Given the description of an element on the screen output the (x, y) to click on. 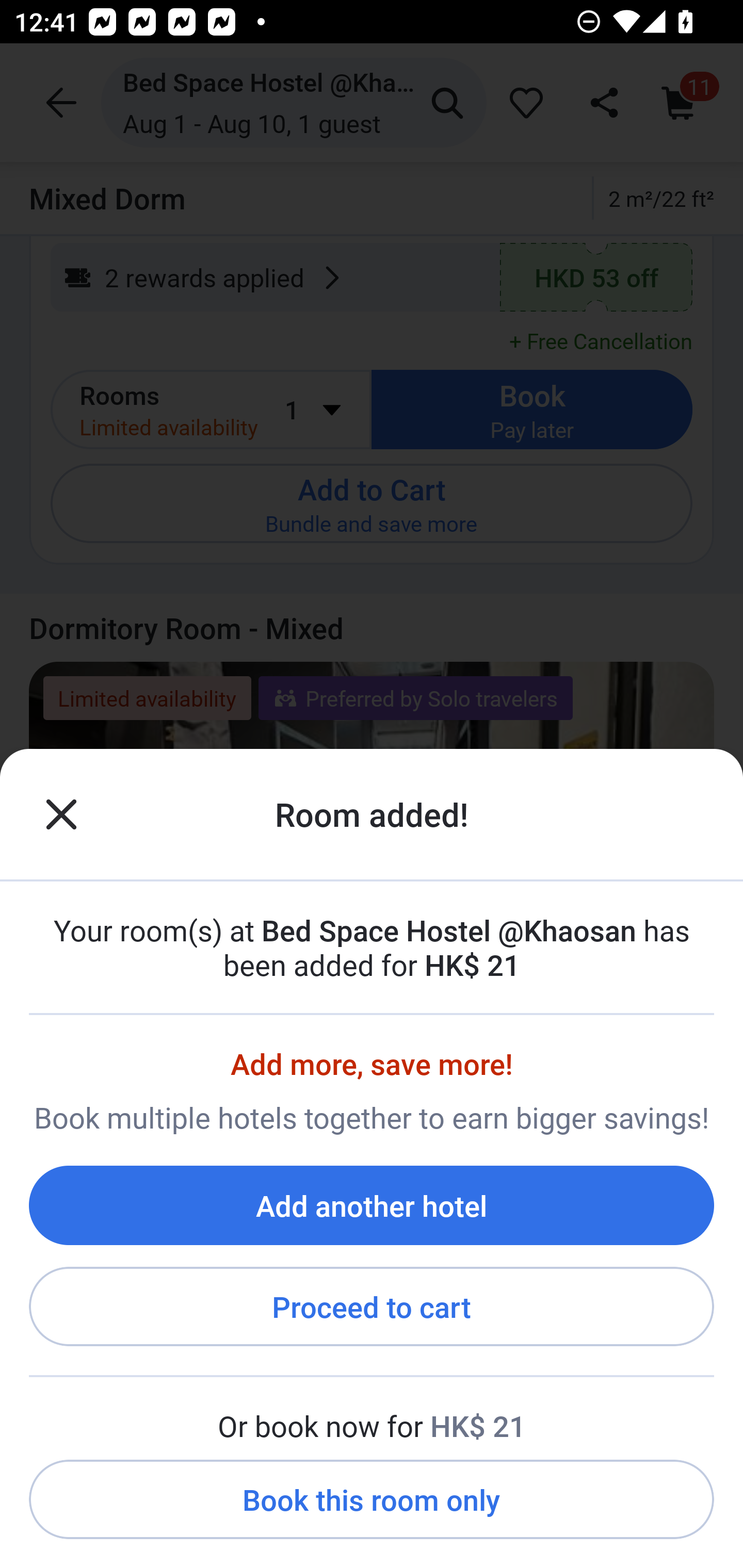
Add another hotel (371, 1204)
Proceed to cart (371, 1306)
Book this room only (371, 1499)
